Given the description of an element on the screen output the (x, y) to click on. 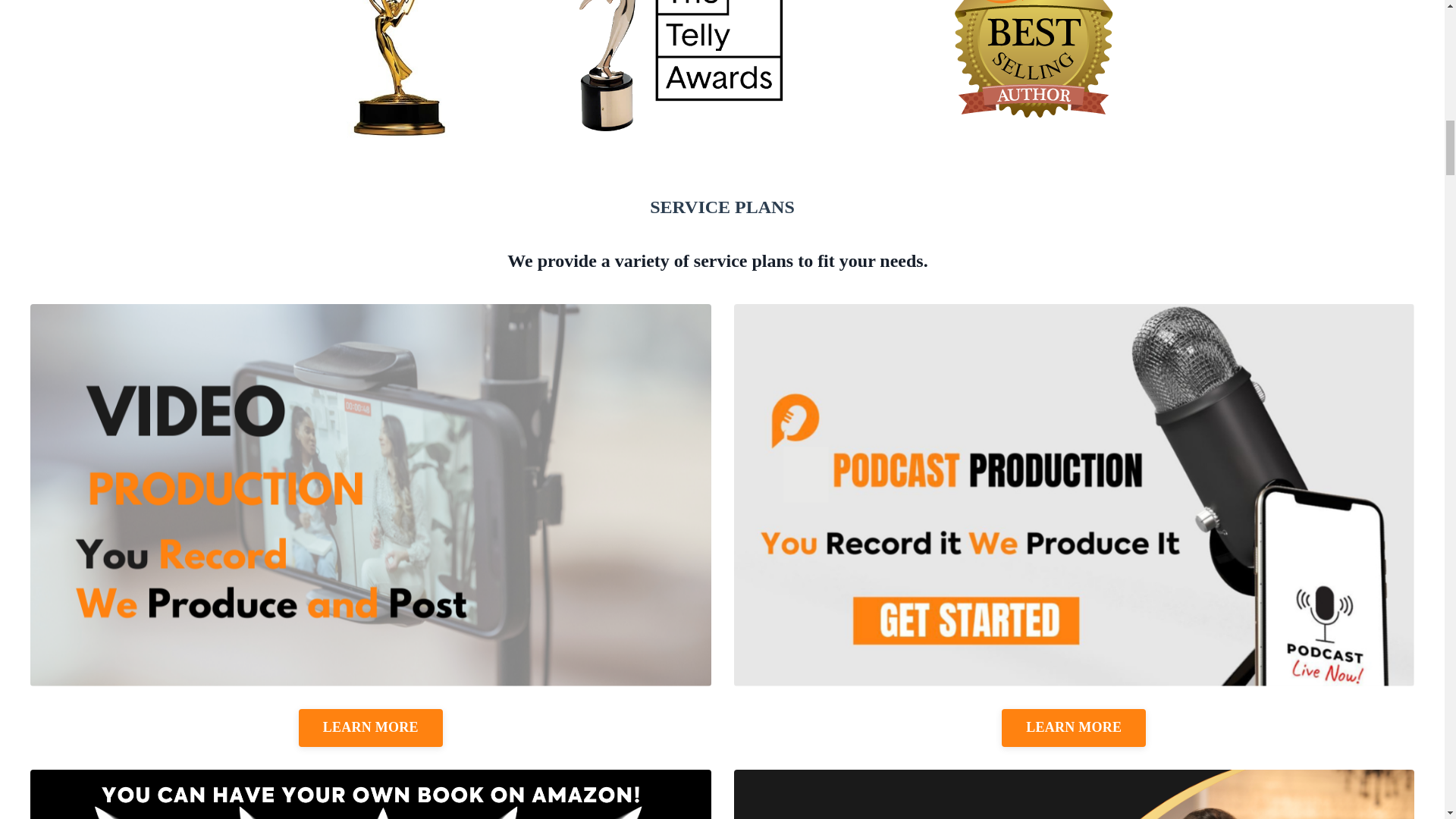
LEARN MORE (1073, 727)
LEARN MORE (370, 727)
